Given the description of an element on the screen output the (x, y) to click on. 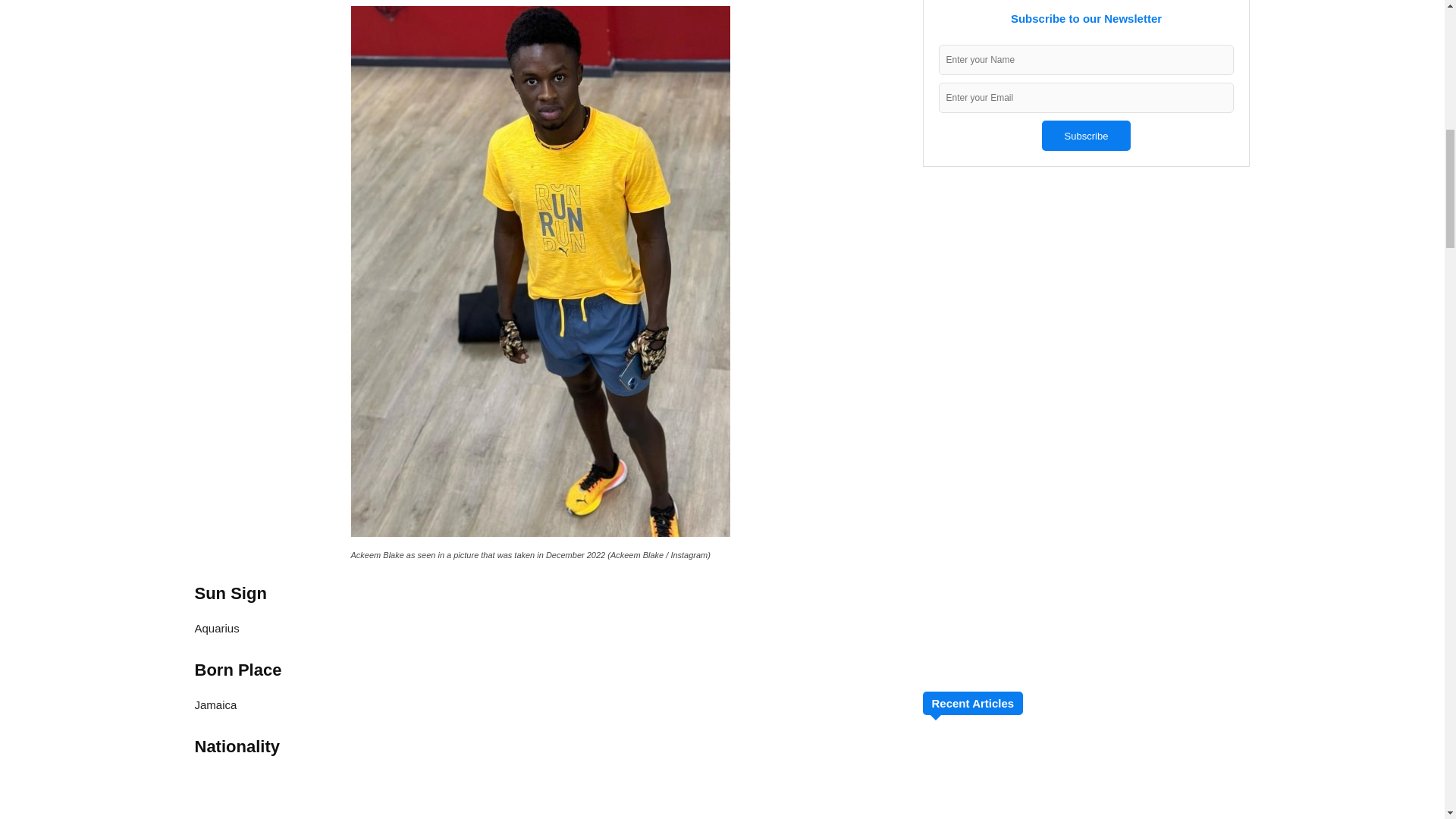
Subscribe (1086, 135)
